Given the description of an element on the screen output the (x, y) to click on. 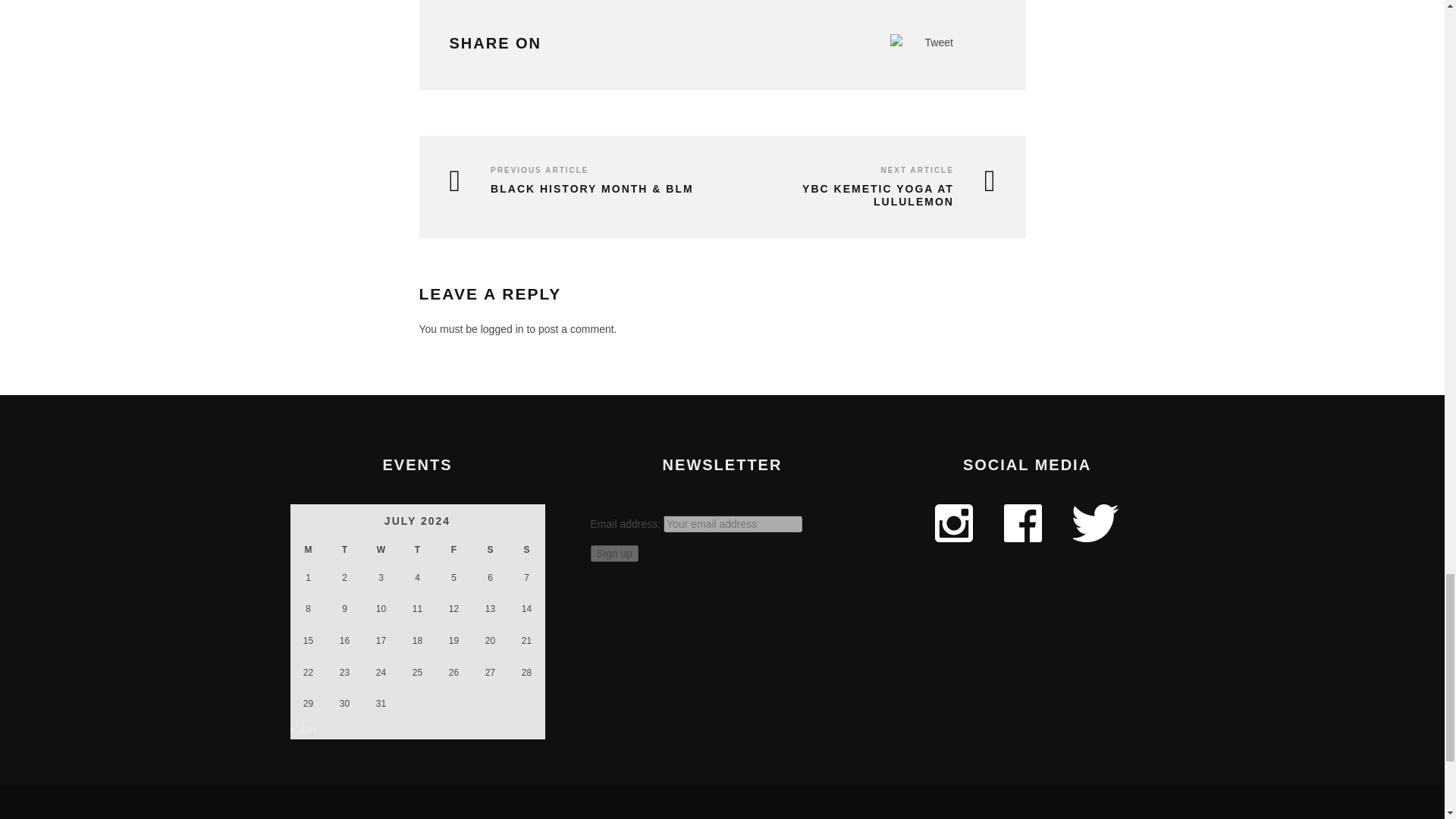
Sign up (613, 553)
Wednesday (380, 550)
NEXT ARTICLE (916, 170)
Friday (453, 550)
Tweet (938, 42)
PREVIOUS ARTICLE (539, 170)
YBC KEMETIC YOGA AT LULULEMON (861, 195)
Thursday (416, 550)
Saturday (489, 550)
Sign up (613, 553)
Sunday (526, 550)
Monday (307, 550)
Tuesday (344, 550)
logged in (502, 328)
